Given the description of an element on the screen output the (x, y) to click on. 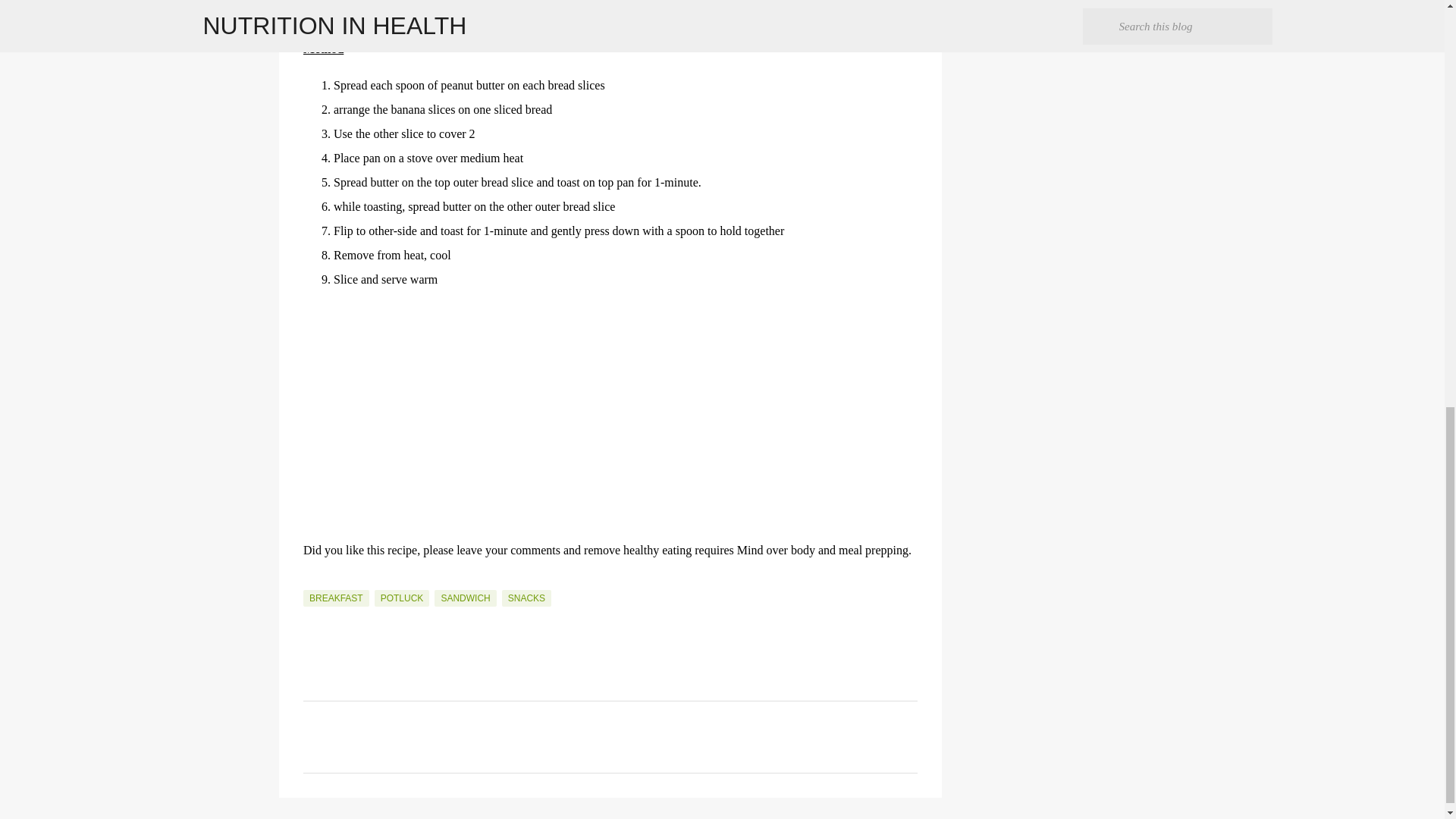
SNACKS (526, 597)
SANDWICH (464, 597)
POTLUCK (401, 597)
BREAKFAST (335, 597)
